Given the description of an element on the screen output the (x, y) to click on. 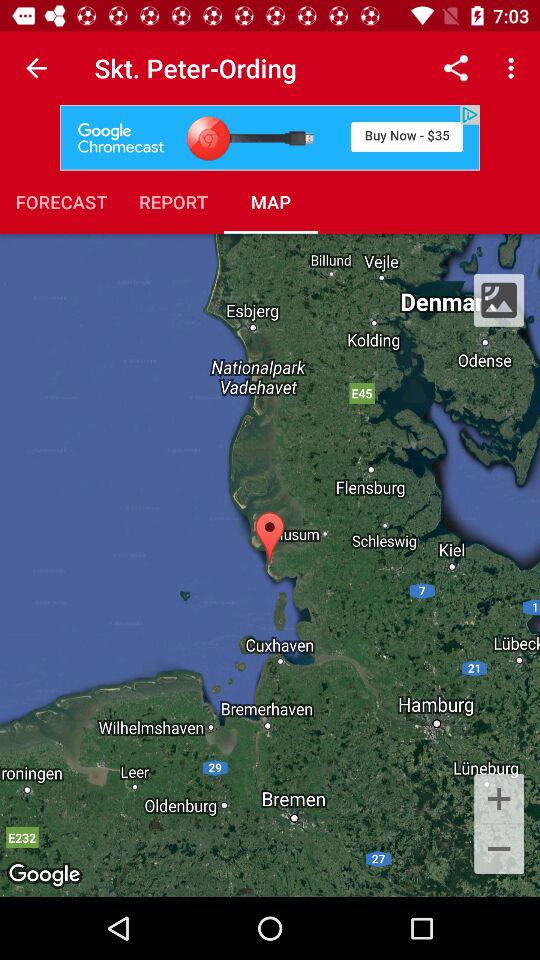
tap item above forecast item (270, 137)
